Given the description of an element on the screen output the (x, y) to click on. 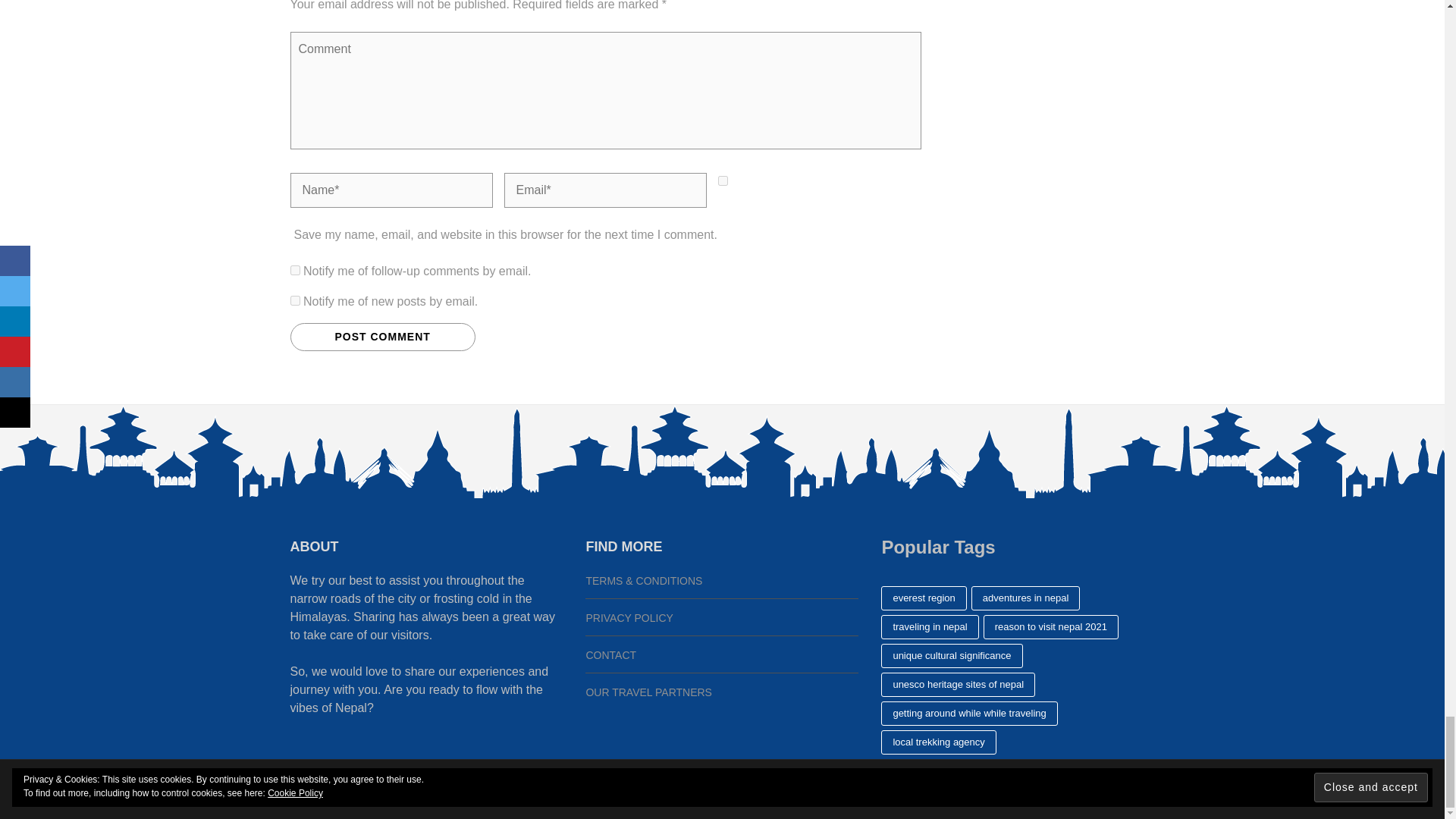
subscribe (294, 270)
Post Comment (381, 336)
subscribe (294, 300)
yes (721, 180)
